Given the description of an element on the screen output the (x, y) to click on. 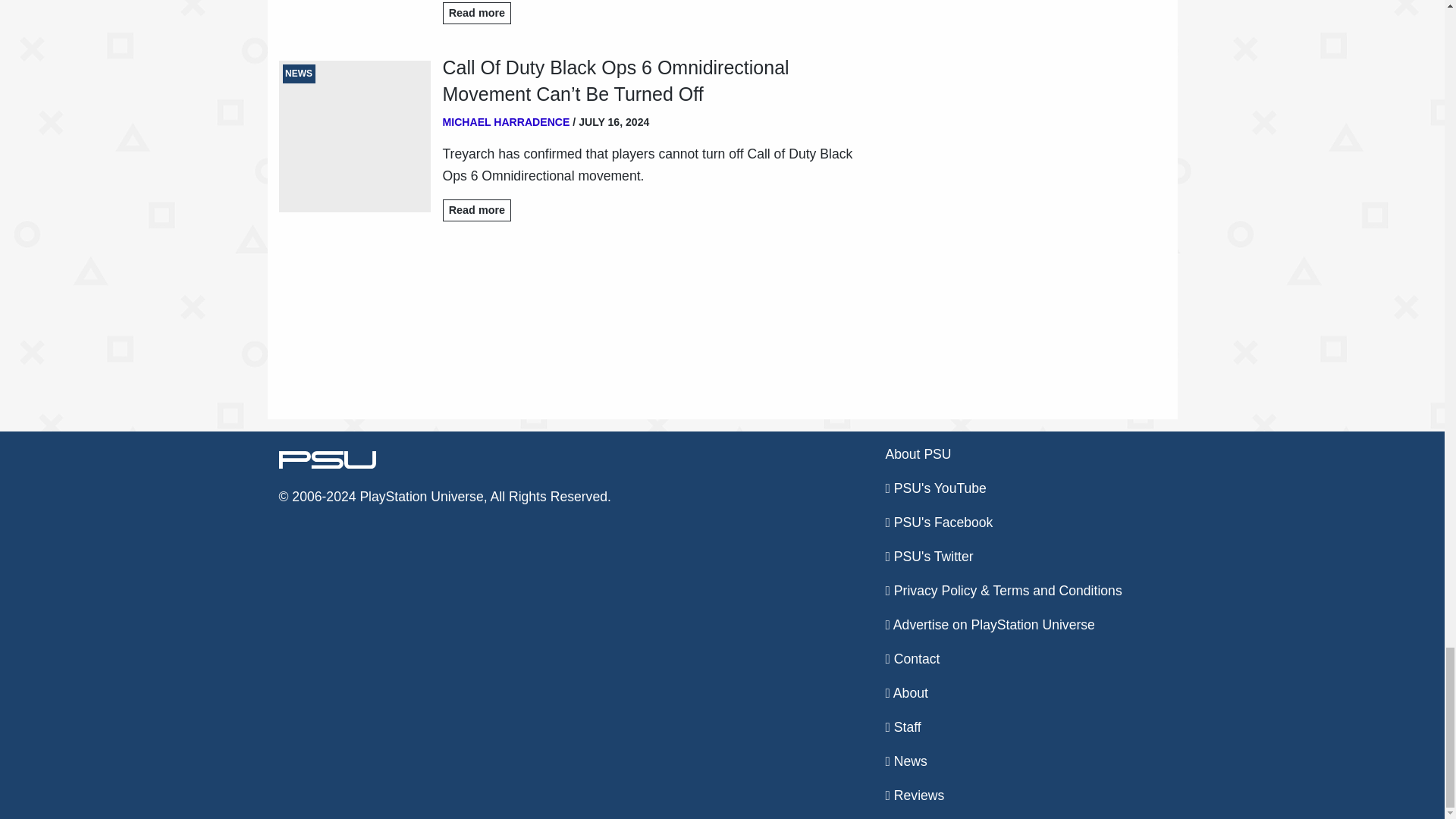
Read more (477, 13)
NEWS (354, 136)
